Given the description of an element on the screen output the (x, y) to click on. 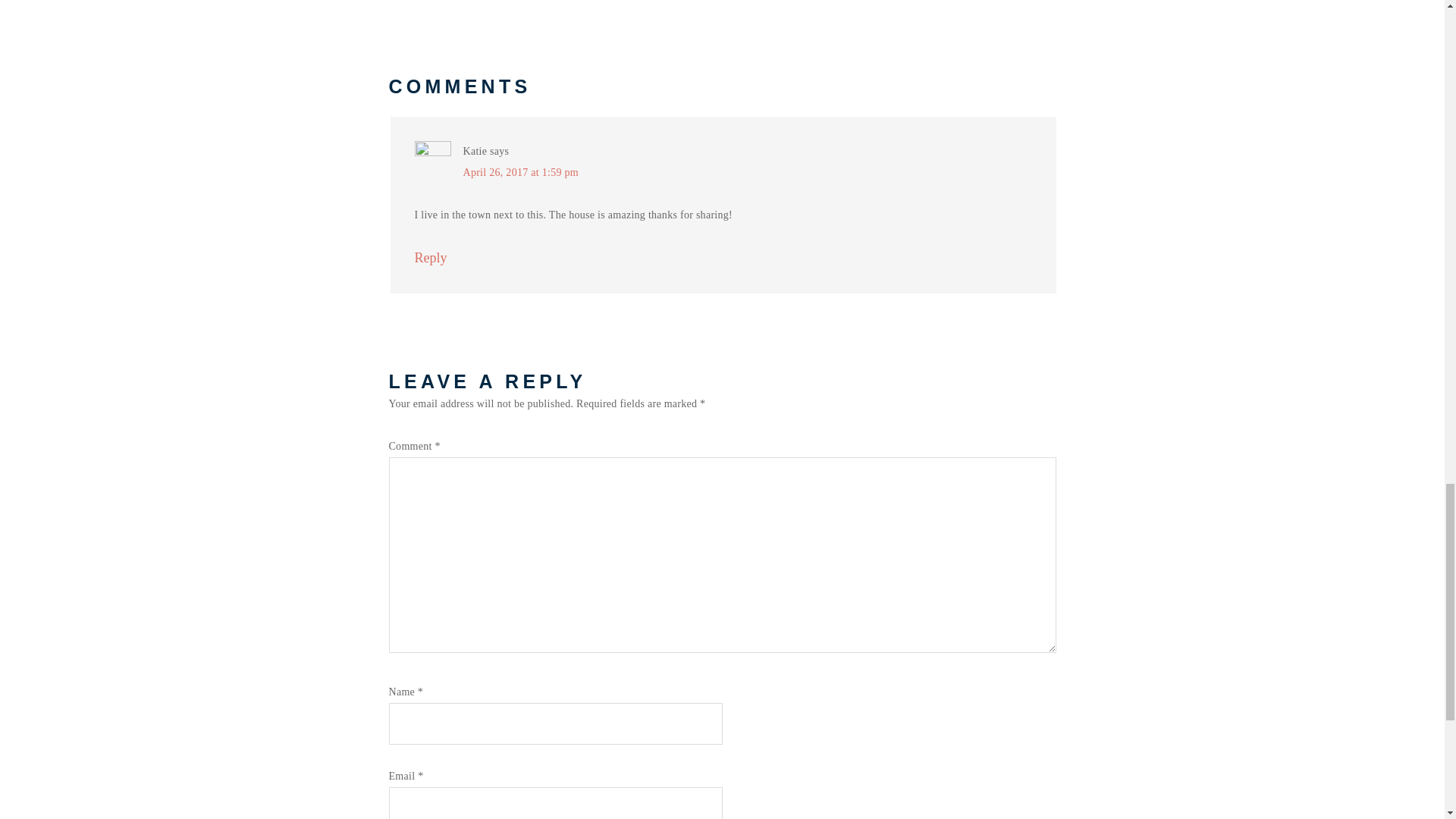
April 26, 2017 at 1:59 pm (520, 172)
Reply (429, 257)
